Given the description of an element on the screen output the (x, y) to click on. 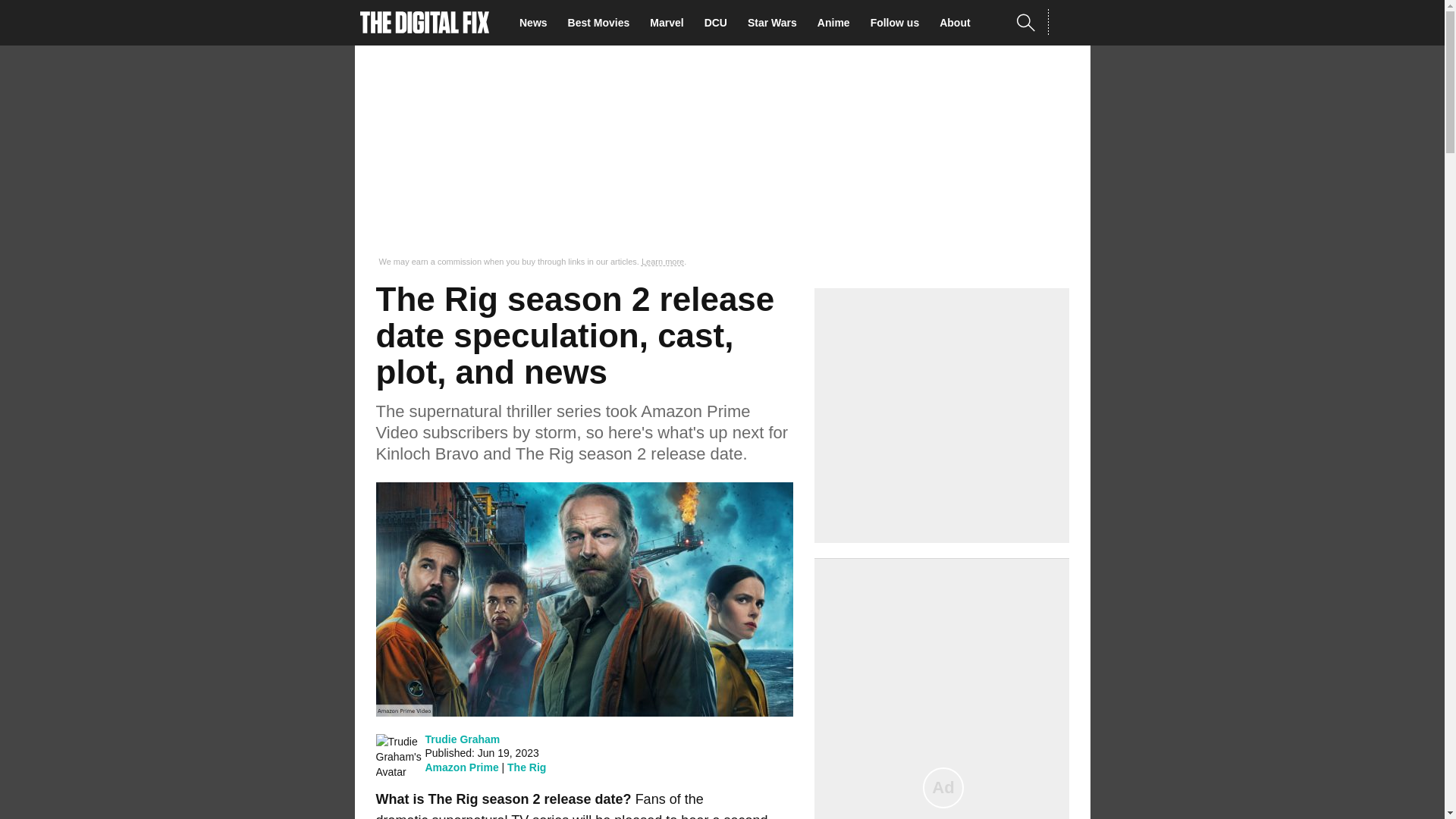
Anime (837, 22)
Amazon Prime (461, 767)
Star Wars News (777, 22)
Follow us (899, 22)
Marvel Cinematic Universe News (671, 22)
The Rig (526, 767)
Best Movies (603, 22)
Trudie Graham (462, 739)
Marvel (671, 22)
Learn more (663, 261)
